Given the description of an element on the screen output the (x, y) to click on. 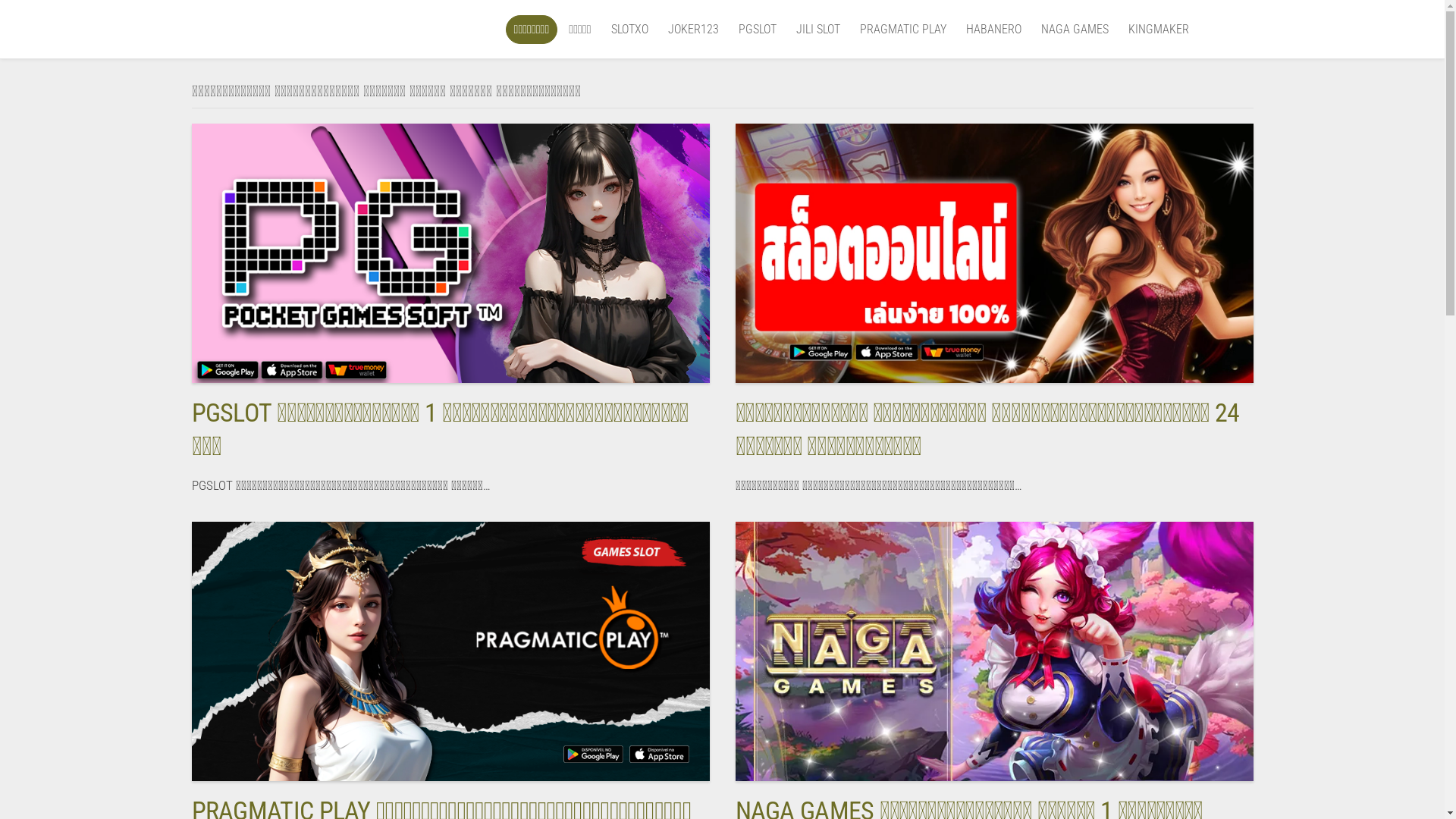
NAGA GAMES Element type: text (1073, 29)
PGSLOT Element type: text (757, 29)
JILI SLOT Element type: text (818, 29)
PRAGMATIC PLAY Element type: text (902, 29)
SLOTXO Element type: text (629, 29)
HABANERO Element type: text (993, 29)
JOKER123 Element type: text (692, 29)
KINGMAKER Element type: text (1158, 29)
